Given the description of an element on the screen output the (x, y) to click on. 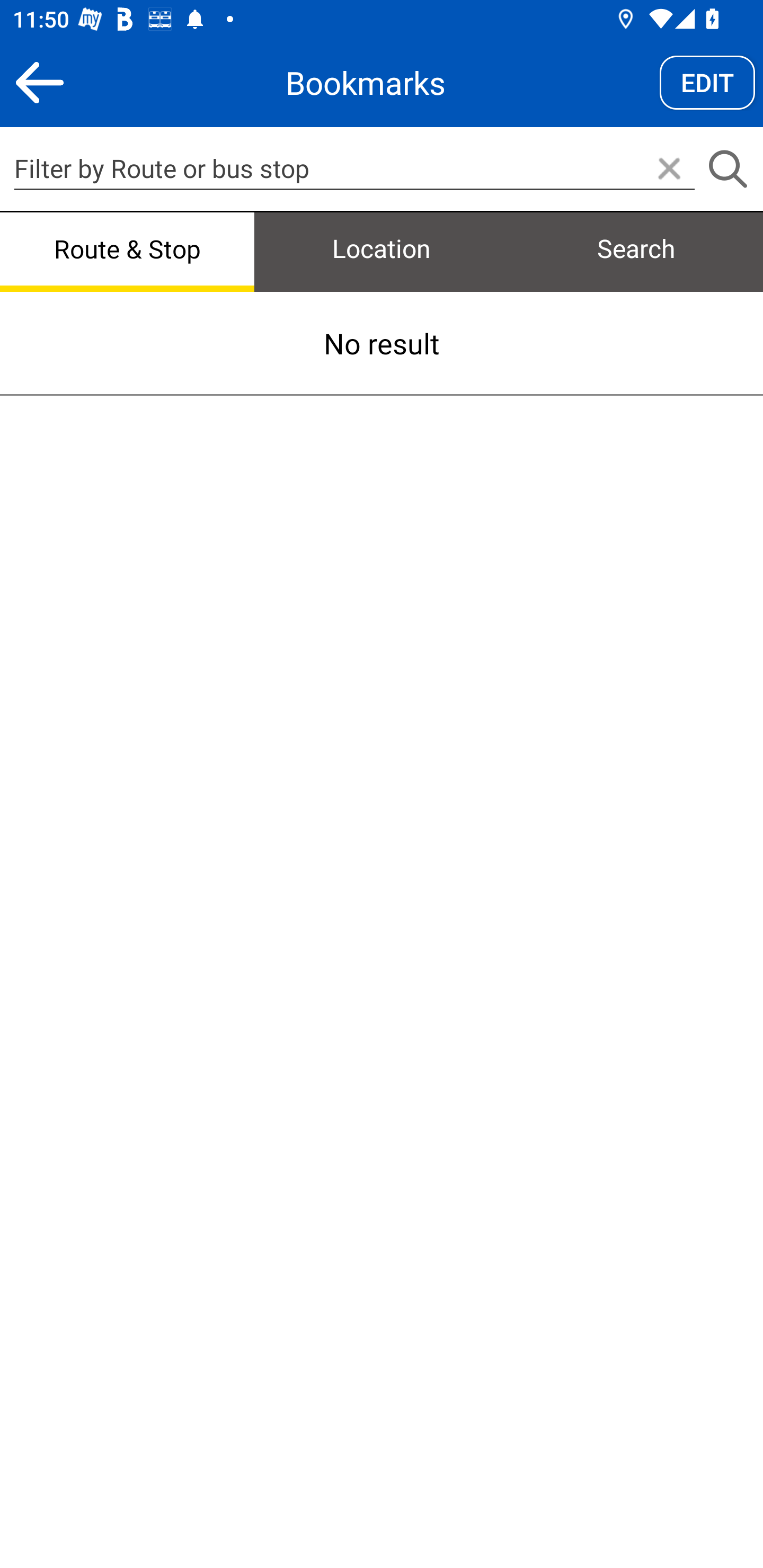
Back (39, 82)
EDIT Edit (707, 81)
Filter by Route or bus stop (354, 168)
Search (727, 169)
Clear (669, 169)
Route & Stop selected (127, 249)
Location (381, 249)
Search (635, 249)
